Given the description of an element on the screen output the (x, y) to click on. 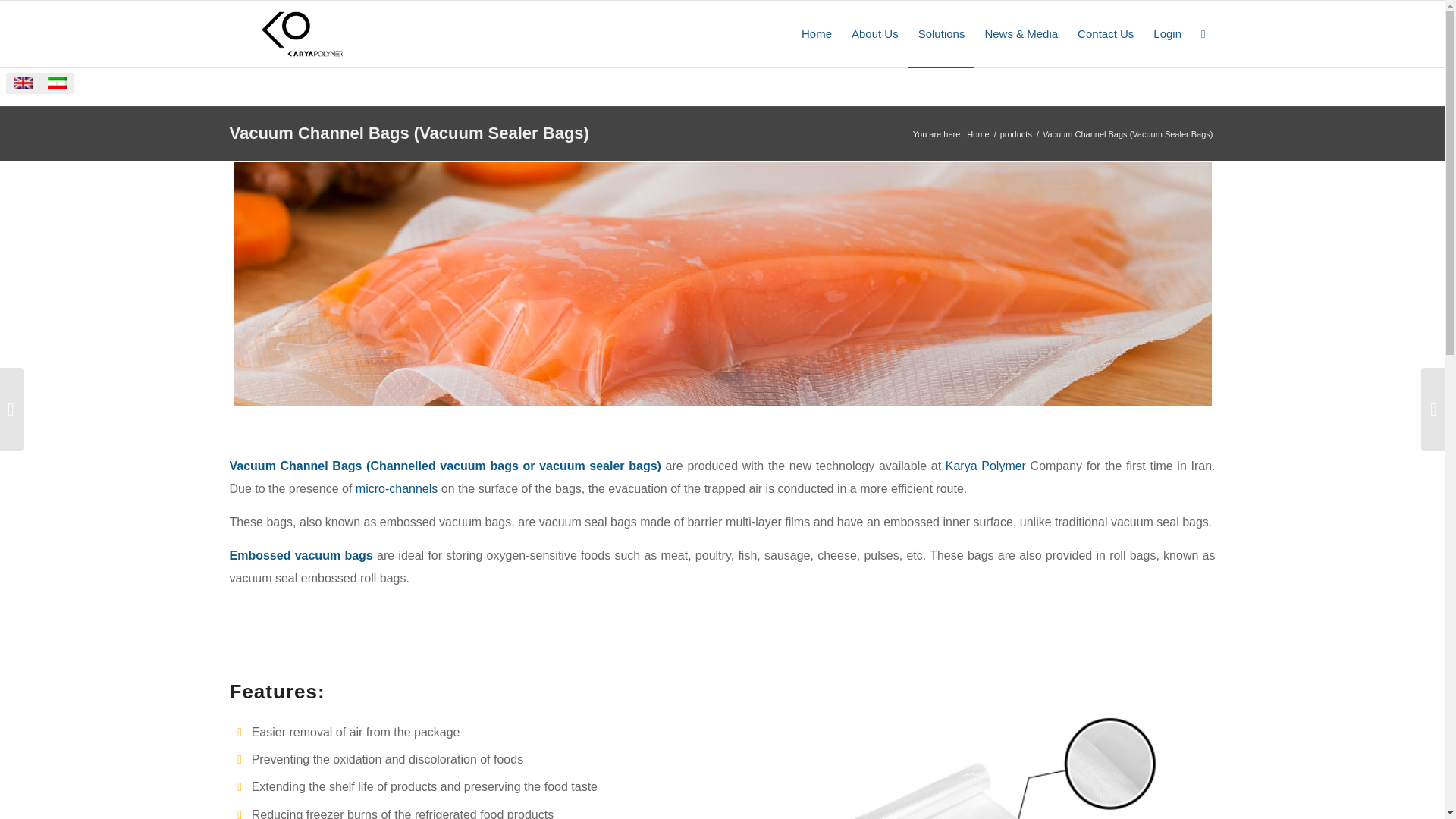
Contact Us (1104, 33)
Solutions (941, 33)
products (1015, 134)
About Us (874, 33)
micro-channels (396, 488)
Home (977, 134)
vacuum-bag-channel (983, 747)
Karya Polymer (977, 134)
Karya Polymer (985, 465)
